Given the description of an element on the screen output the (x, y) to click on. 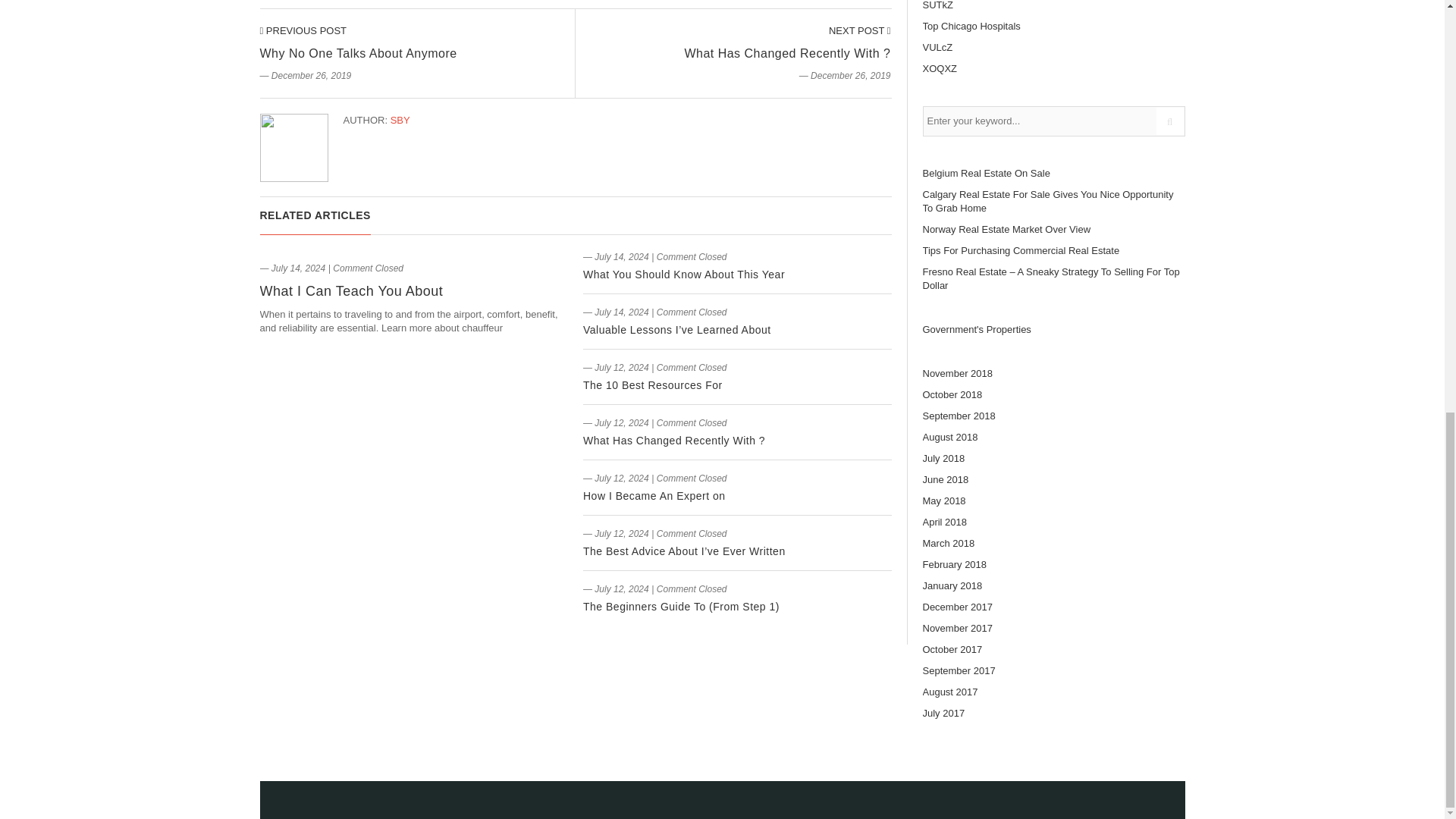
Why No One Talks About Anymore (358, 52)
How I Became An Expert on (654, 495)
What You Should Know About This Year (683, 274)
What I Can Teach You About (350, 290)
What I Can Teach You About (350, 290)
What Has Changed Recently With ? (786, 52)
 PREVIOUS POST (302, 30)
SBY (400, 120)
VULcZ (936, 47)
What You Should Know About  This Year (683, 274)
What Has Changed Recently With ? (674, 440)
The 10 Best Resources For (652, 385)
How I Became An Expert on (654, 495)
What Has Changed Recently With ? (859, 30)
Why No One Talks About  Anymore (302, 30)
